Given the description of an element on the screen output the (x, y) to click on. 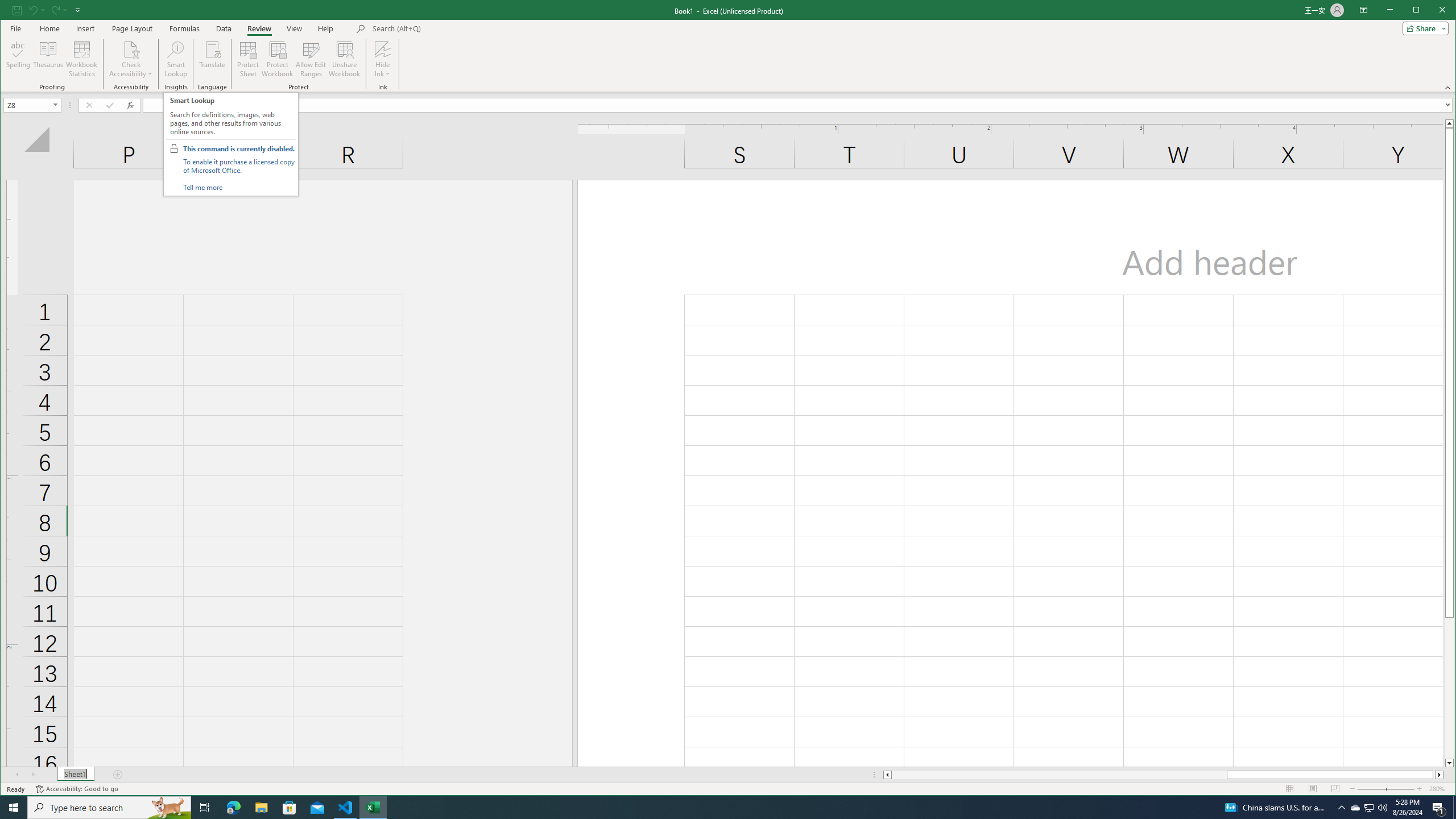
Class: MsoCommandBar (728, 45)
Ribbon Display Options (1364, 9)
Scroll Right (34, 774)
Quick Access Toolbar (46, 9)
Search highlights icon opens search home window (167, 807)
Visual Studio Code - 1 running window (345, 807)
Page left (1059, 774)
Hide Ink (382, 48)
Formula Bar (799, 104)
Column left (886, 774)
Spelling... (18, 59)
File Tab (15, 27)
